Given the description of an element on the screen output the (x, y) to click on. 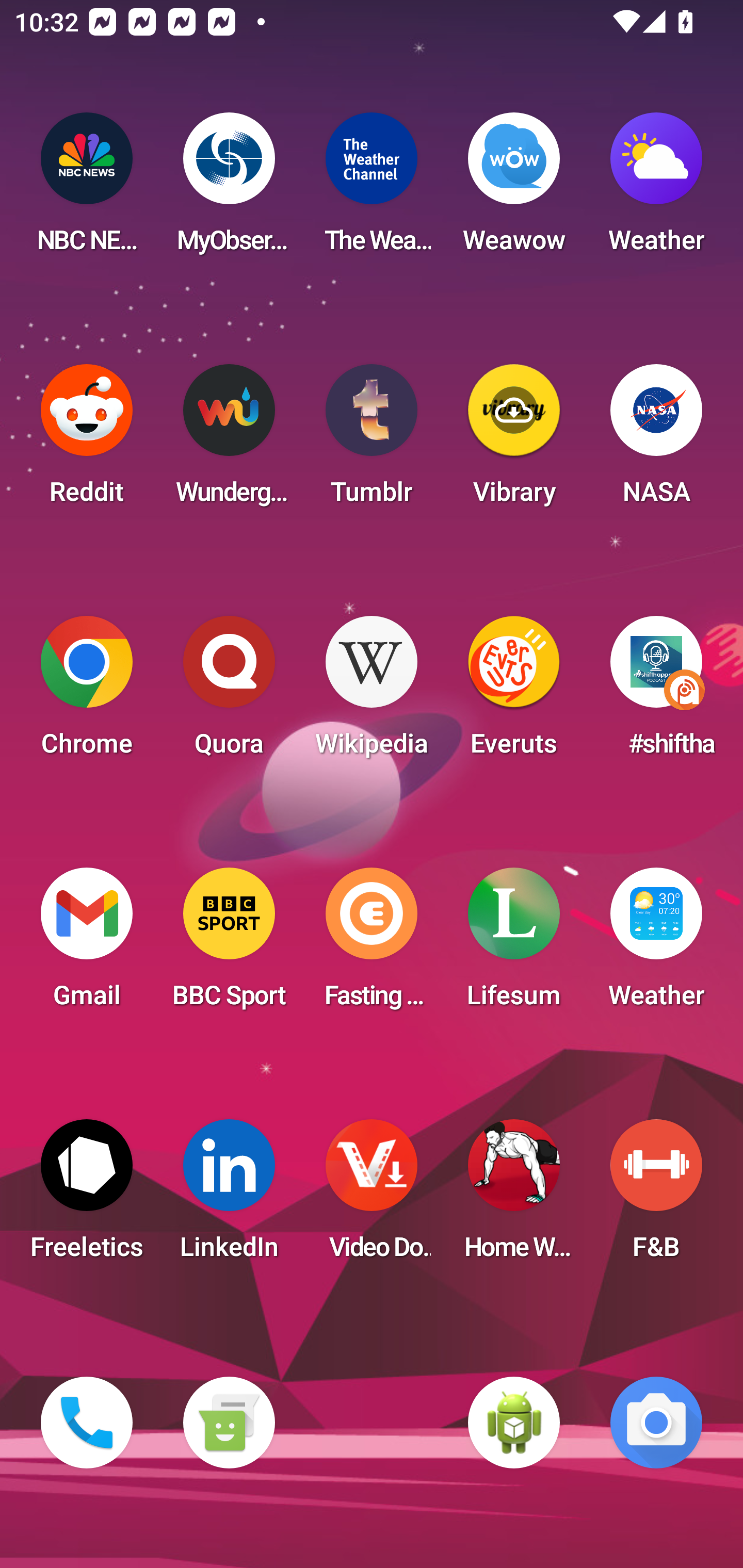
NBC NEWS (86, 188)
MyObservatory (228, 188)
The Weather Channel (371, 188)
Weawow (513, 188)
Weather (656, 188)
Reddit (86, 440)
Wunderground (228, 440)
Tumblr (371, 440)
Vibrary (513, 440)
NASA (656, 440)
Chrome (86, 692)
Quora (228, 692)
Wikipedia (371, 692)
Everuts (513, 692)
#shifthappens in the Digital Workplace Podcast (656, 692)
Gmail (86, 943)
BBC Sport (228, 943)
Fasting Coach (371, 943)
Lifesum (513, 943)
Weather (656, 943)
Freeletics (86, 1195)
LinkedIn (228, 1195)
Video Downloader & Ace Player (371, 1195)
Home Workout (513, 1195)
F&B (656, 1195)
Phone (86, 1422)
Messaging (228, 1422)
WebView Browser Tester (513, 1422)
Camera (656, 1422)
